Given the description of an element on the screen output the (x, y) to click on. 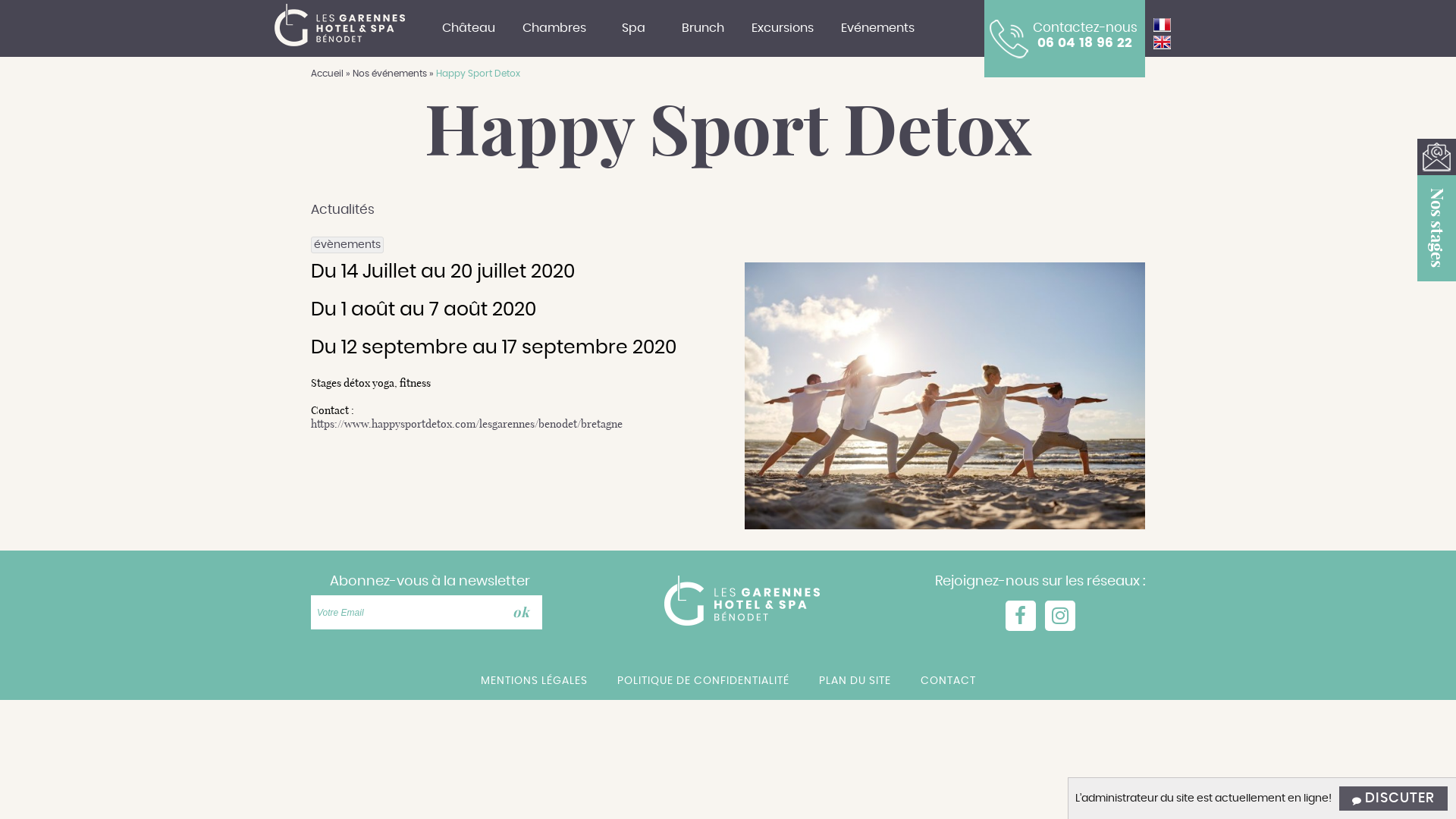
Spa Element type: text (632, 30)
> Element type: text (522, 612)
PLAN DU SITE Element type: text (855, 680)
Contactez-nous Element type: text (1084, 27)
CONTACT Element type: text (947, 680)
Chambres Element type: text (553, 30)
facebook Element type: text (1020, 615)
Accueil Element type: text (326, 73)
06 04 18 96 22 Element type: text (1084, 42)
Excursions Element type: text (781, 30)
instagram Element type: text (1059, 615)
Brunch Element type: text (701, 30)
https://www.happysportdetox.com/lesgarennes/benodet/bretagne Element type: text (466, 423)
